Given the description of an element on the screen output the (x, y) to click on. 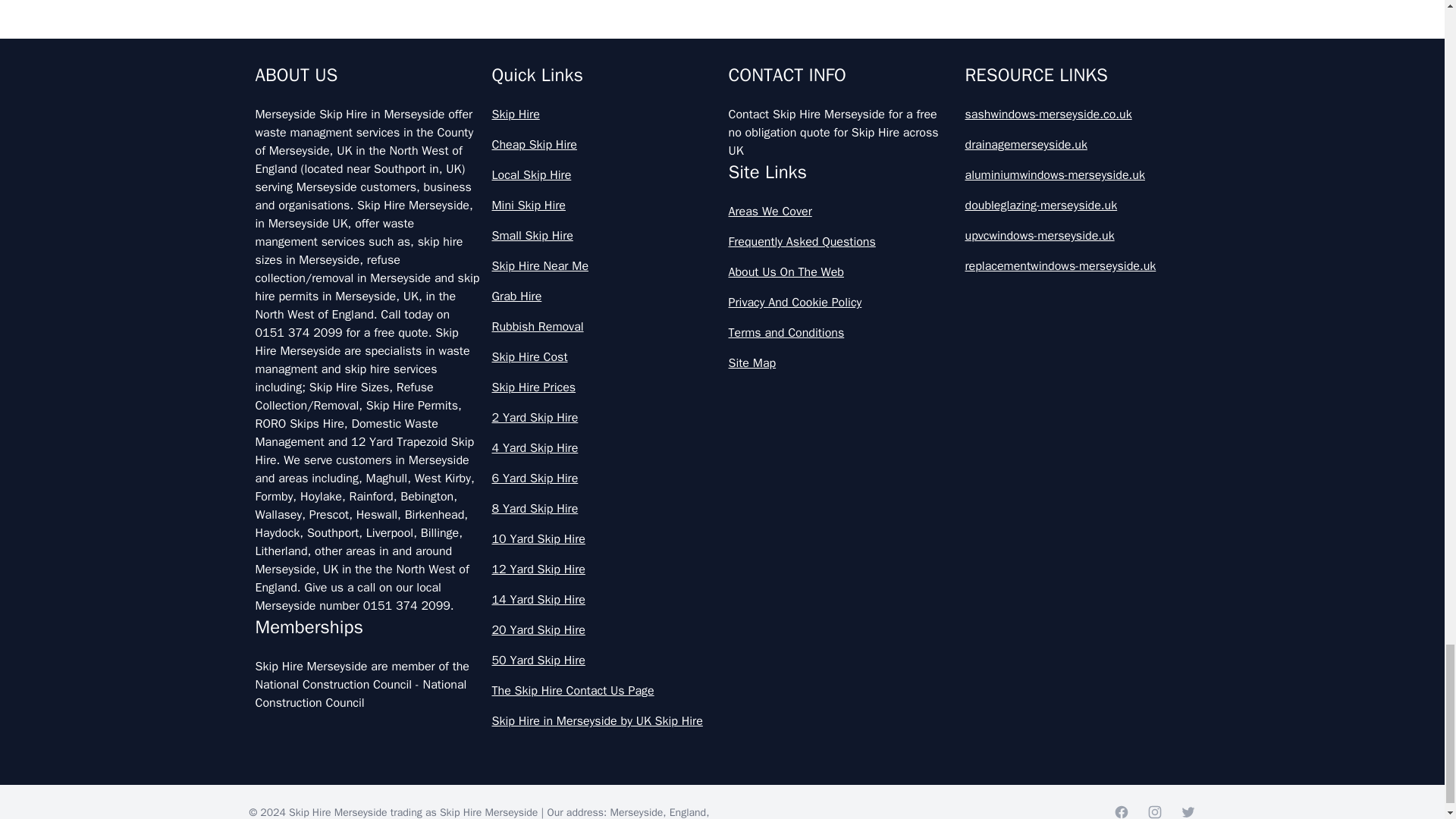
sashwindows-merseyside.co.uk (1076, 114)
doubleglazing-merseyside.uk (1076, 205)
Site Map (840, 362)
aluminiumwindows-merseyside.uk (1076, 175)
Skip Hire in Merseyside by UK Skip Hire (604, 720)
Is Grab Hire Cheaper Than A Skip In Merseyside (722, 33)
upvcwindows-merseyside.uk (1076, 235)
drainagemerseyside.uk (1076, 144)
replacementwindows-merseyside.uk (1076, 266)
What Is Grab Hire In Merseyside (722, 100)
